Given the description of an element on the screen output the (x, y) to click on. 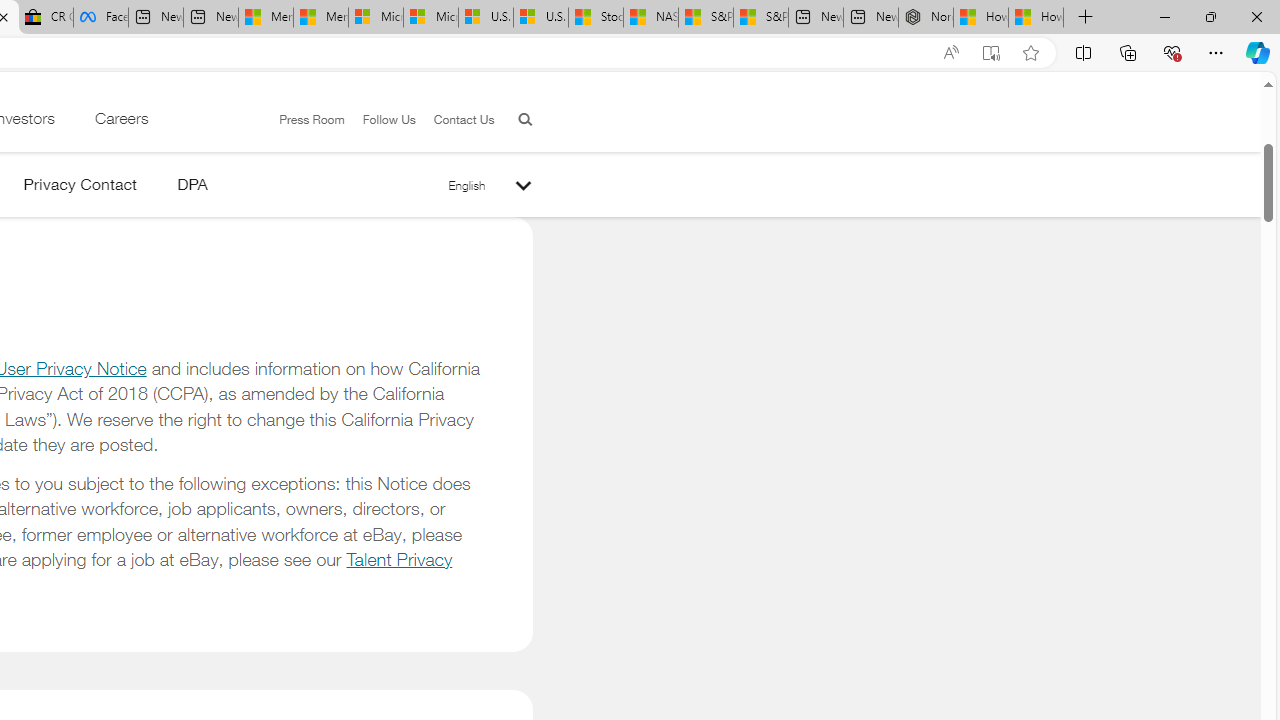
Facebook (100, 17)
How to Use a Monitor With Your Closed Laptop (1035, 17)
Privacy Contact (80, 188)
S&P 500, Nasdaq end lower, weighed by Nvidia dip | Watch (760, 17)
